Given the description of an element on the screen output the (x, y) to click on. 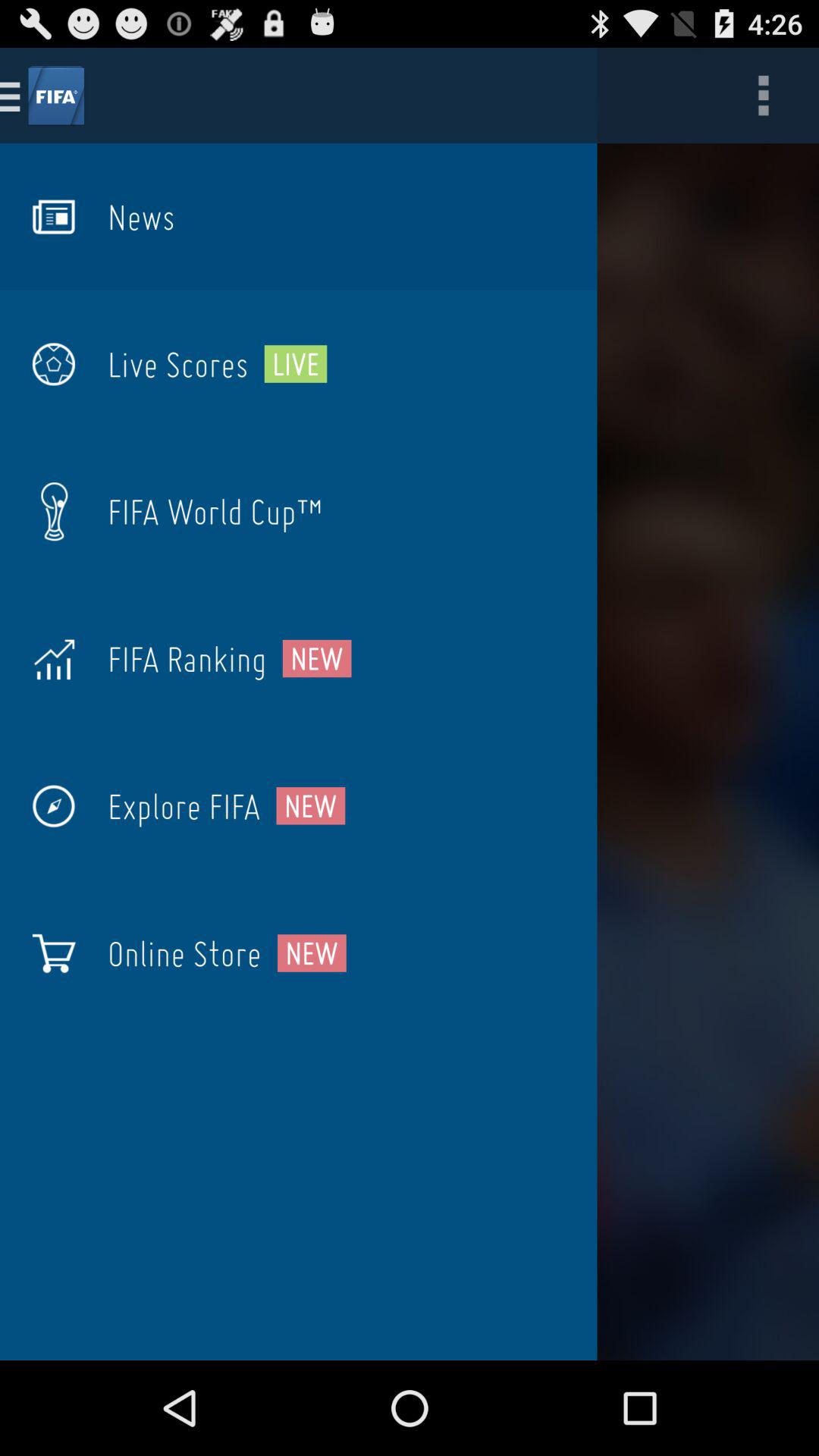
select the item to the left of the live (177, 363)
